Given the description of an element on the screen output the (x, y) to click on. 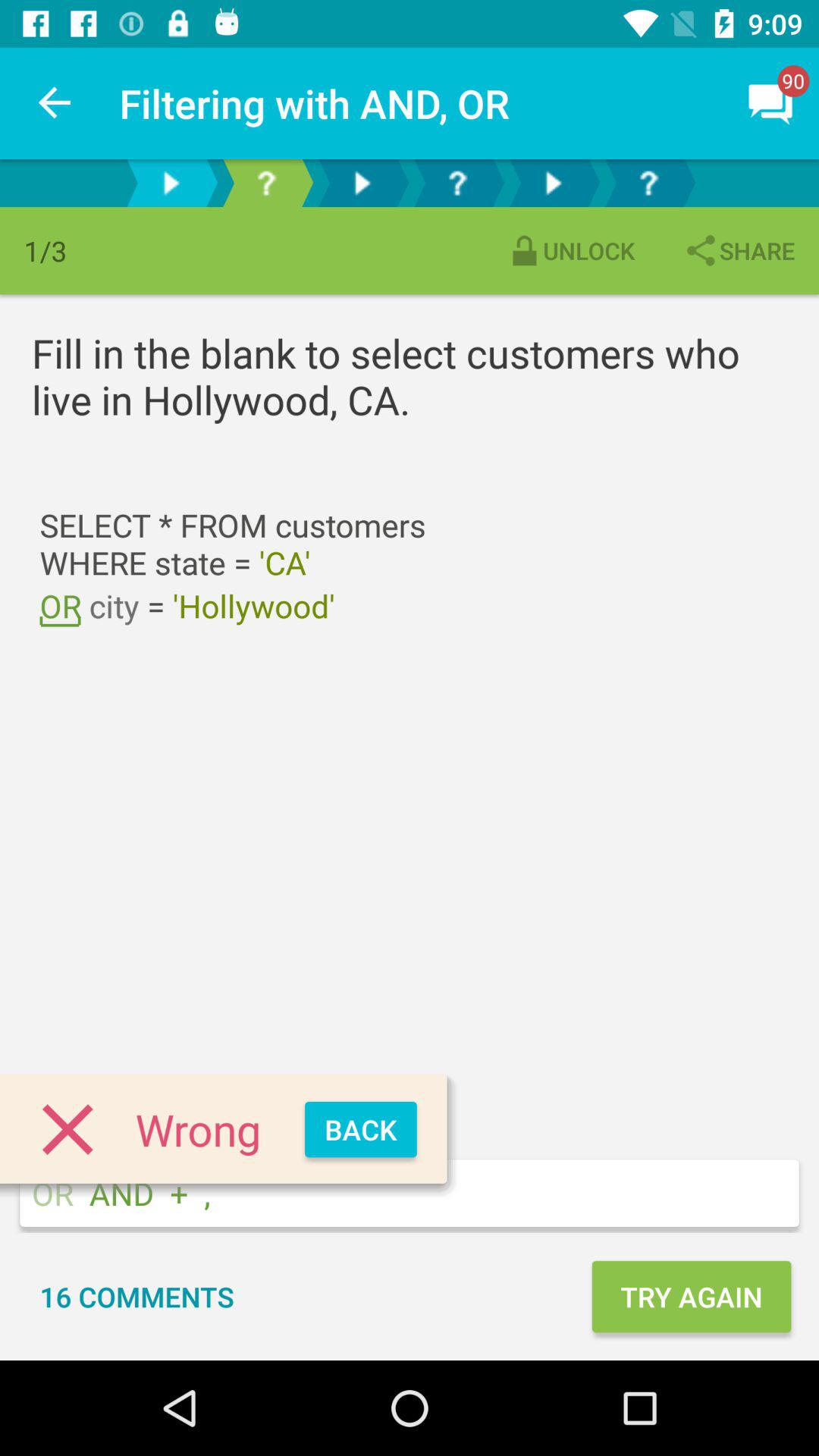
flip until the try again item (691, 1296)
